Given the description of an element on the screen output the (x, y) to click on. 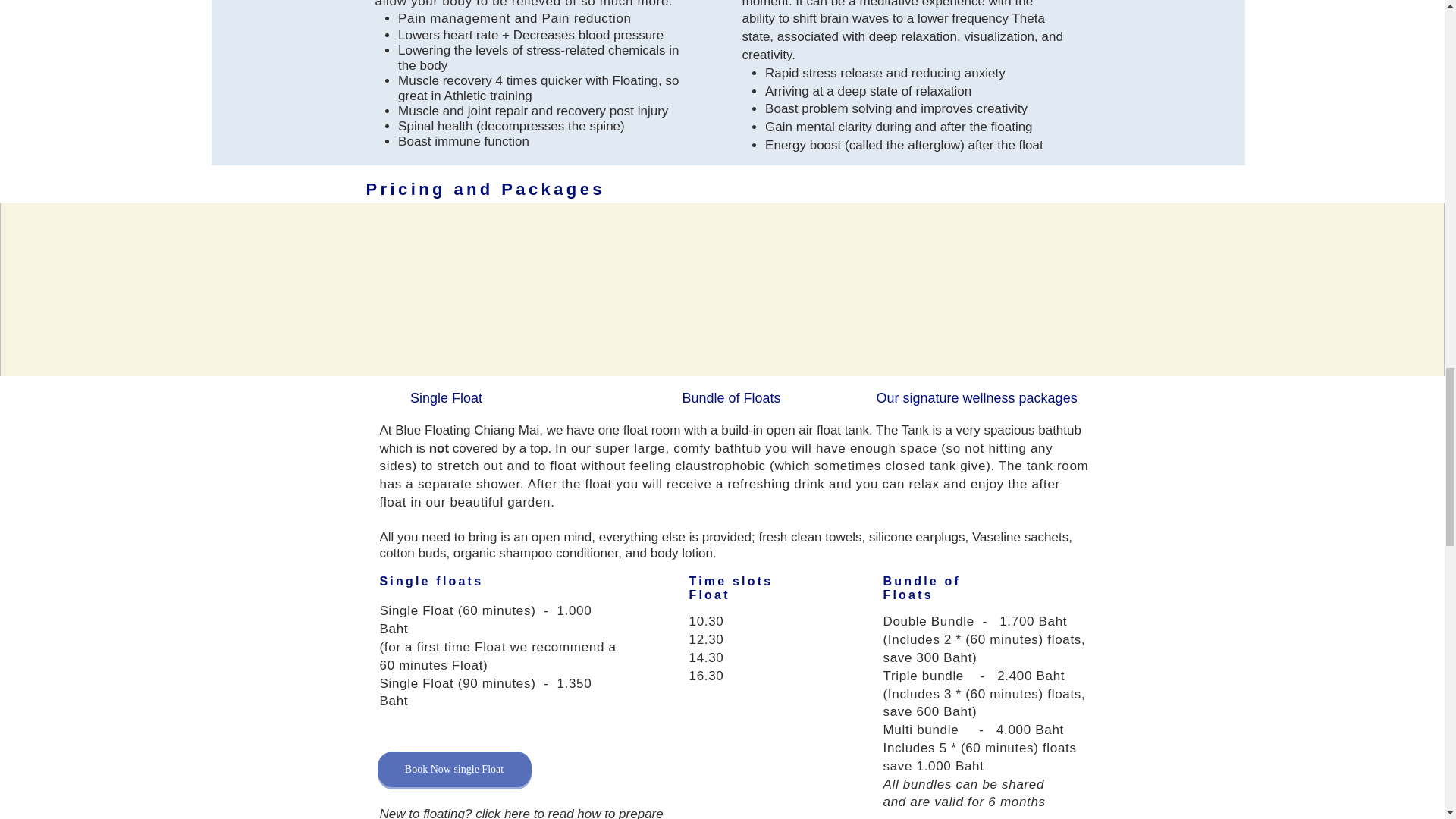
here (516, 812)
Bundle of Floats (731, 399)
Single Float (446, 399)
Our signature wellness packages (976, 399)
Book Now single Float (454, 769)
